Given the description of an element on the screen output the (x, y) to click on. 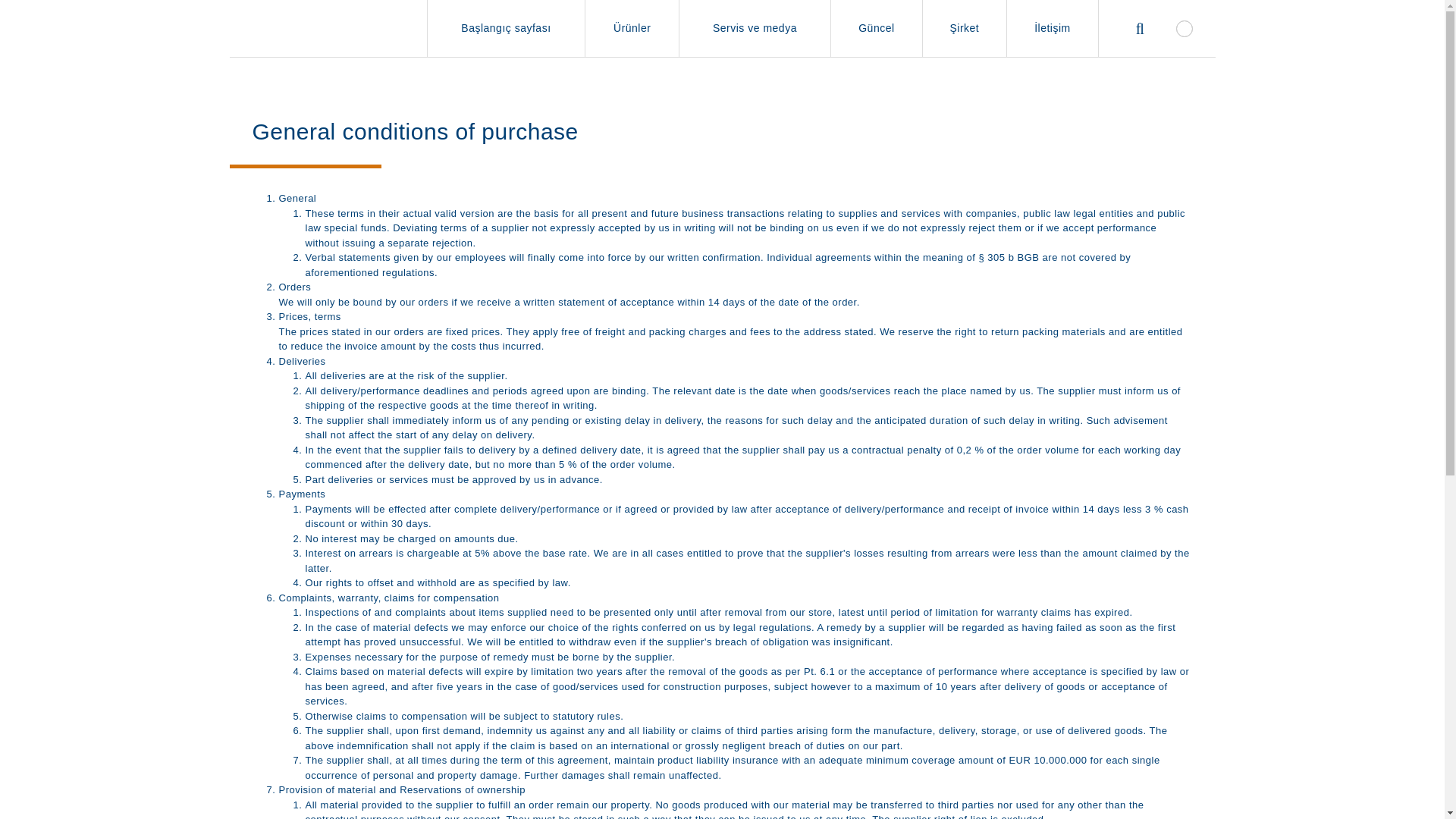
Servis ve medya (754, 28)
WISTRA - Cargo Control (315, 28)
Deutsch (1183, 27)
Servis ve medya (754, 28)
WISTRA - Cargo Control (315, 28)
German (1183, 27)
